Given the description of an element on the screen output the (x, y) to click on. 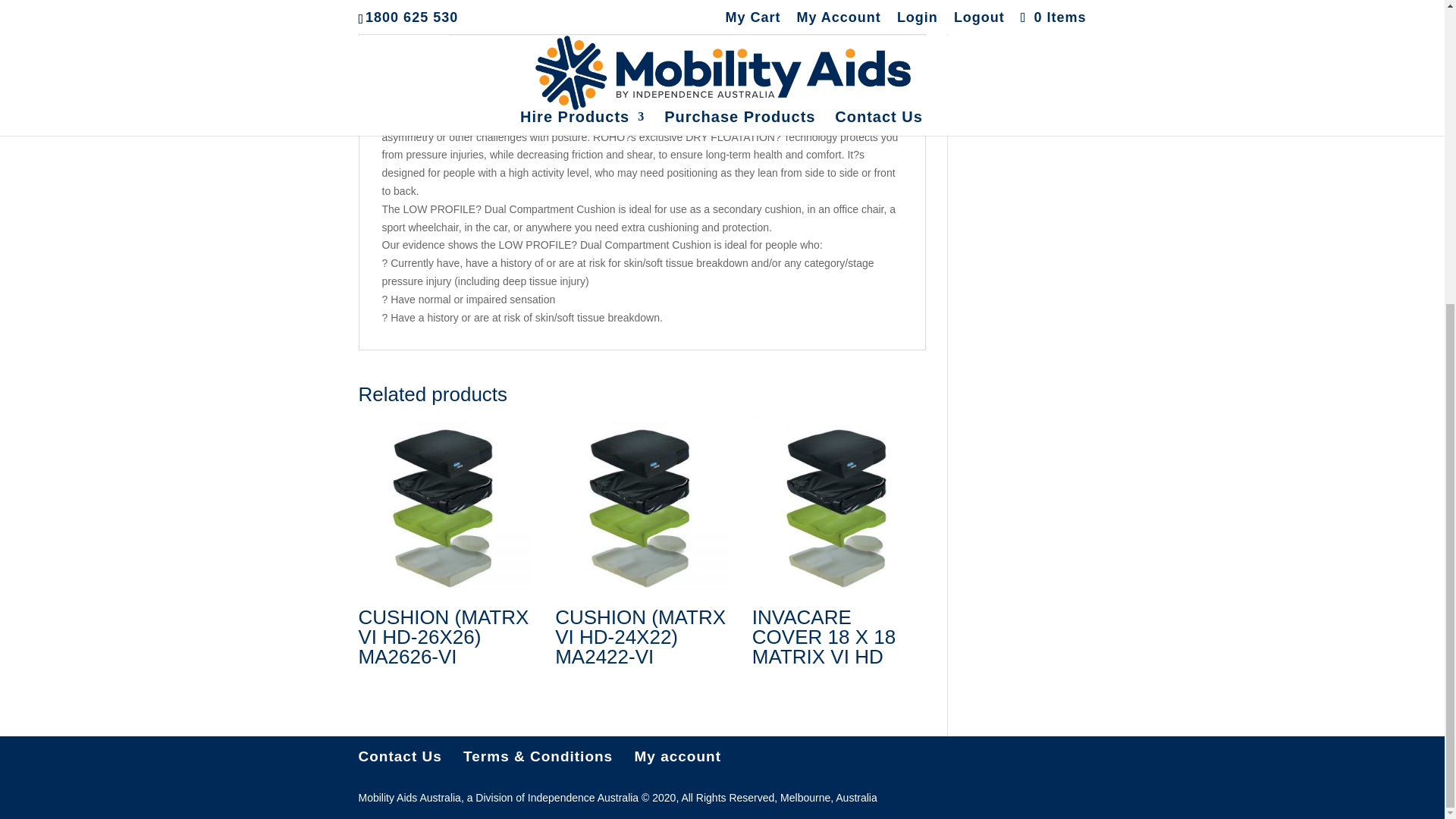
INVACARE COVER 18 X 18 MATRIX VI HD (839, 545)
Contact Us (399, 756)
My account (676, 756)
Description (403, 47)
